Given the description of an element on the screen output the (x, y) to click on. 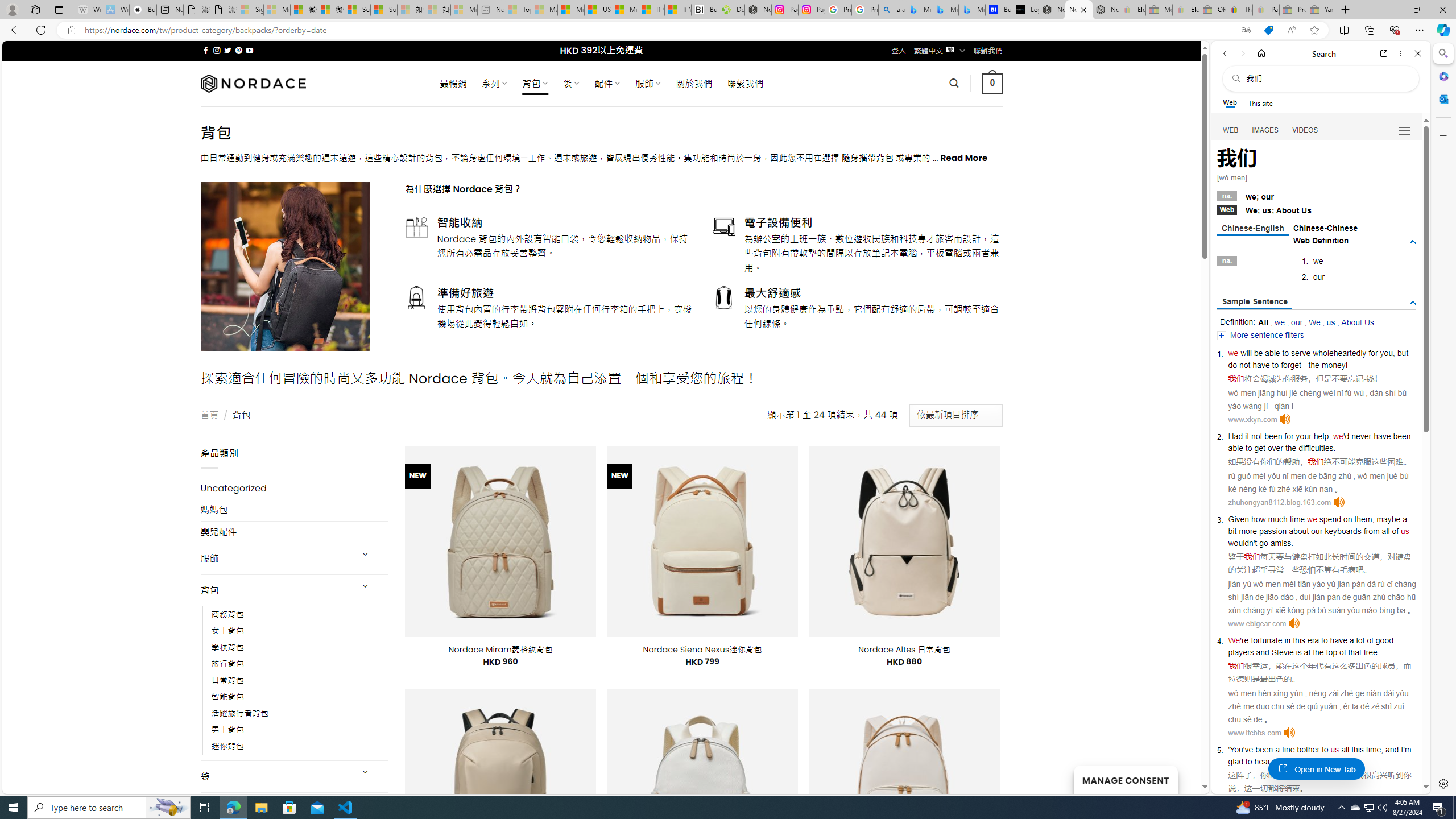
zhuhongyan8112.blog.163.com (1278, 501)
hear (1262, 760)
na.we; our (1316, 195)
AutomationID: tgdef (1412, 241)
time (1297, 519)
Given (1238, 519)
